Given the description of an element on the screen output the (x, y) to click on. 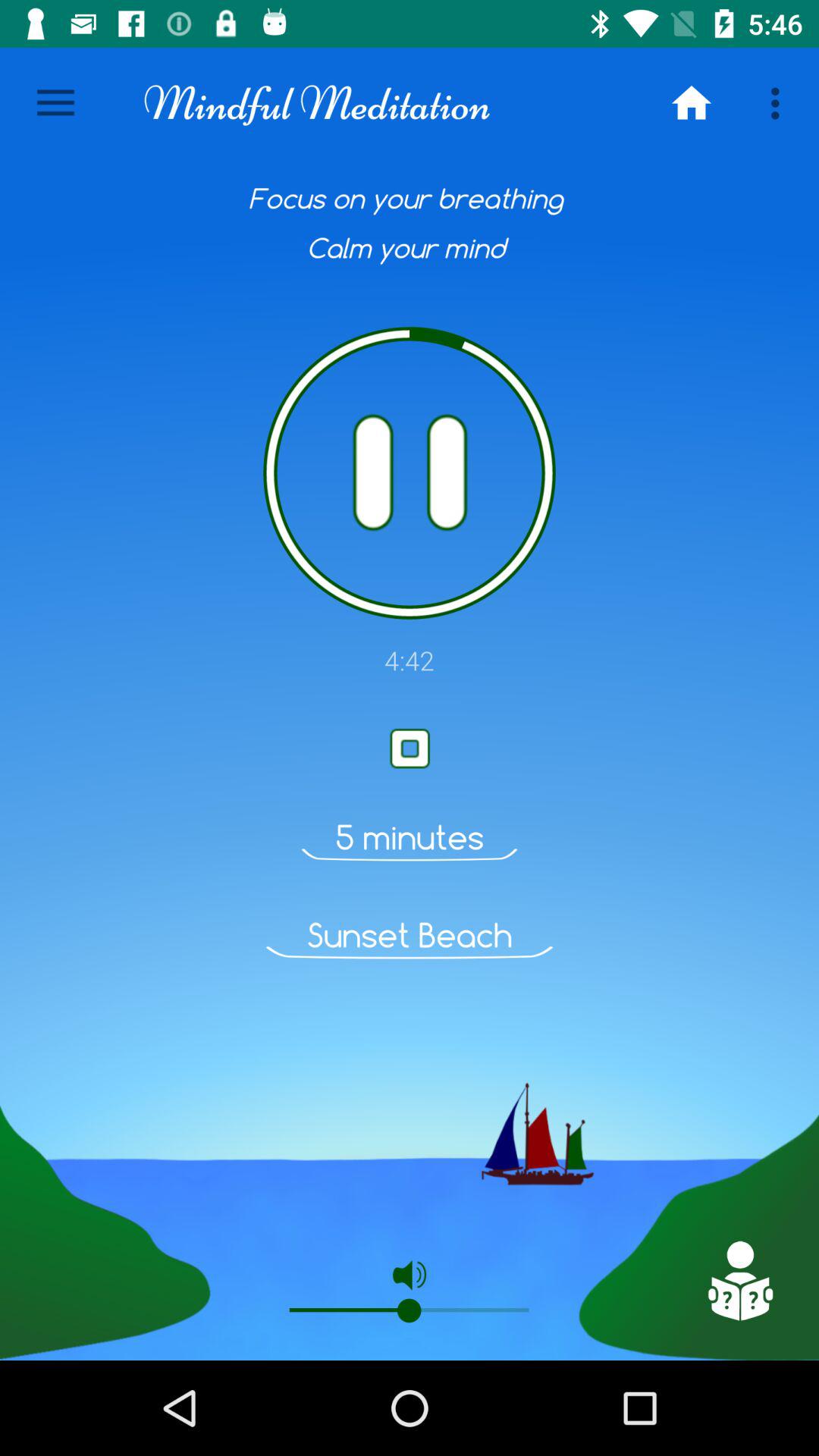
select item at the bottom right corner (739, 1280)
